Given the description of an element on the screen output the (x, y) to click on. 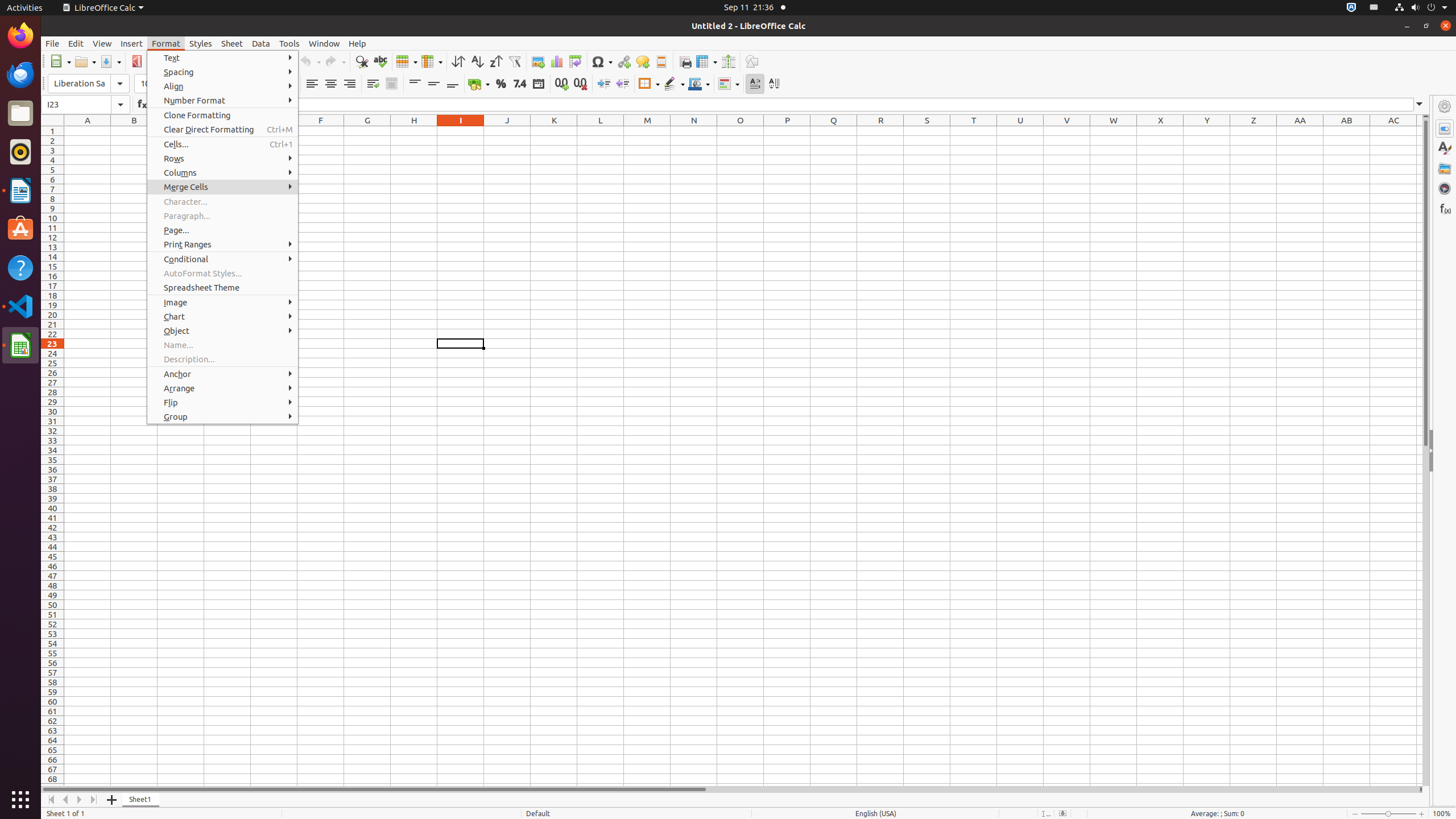
Pivot Table Element type: push-button (574, 61)
Align Element type: menu (222, 86)
Increase Element type: push-button (603, 83)
Print Area Element type: push-button (684, 61)
Properties Element type: radio-button (1444, 128)
